Given the description of an element on the screen output the (x, y) to click on. 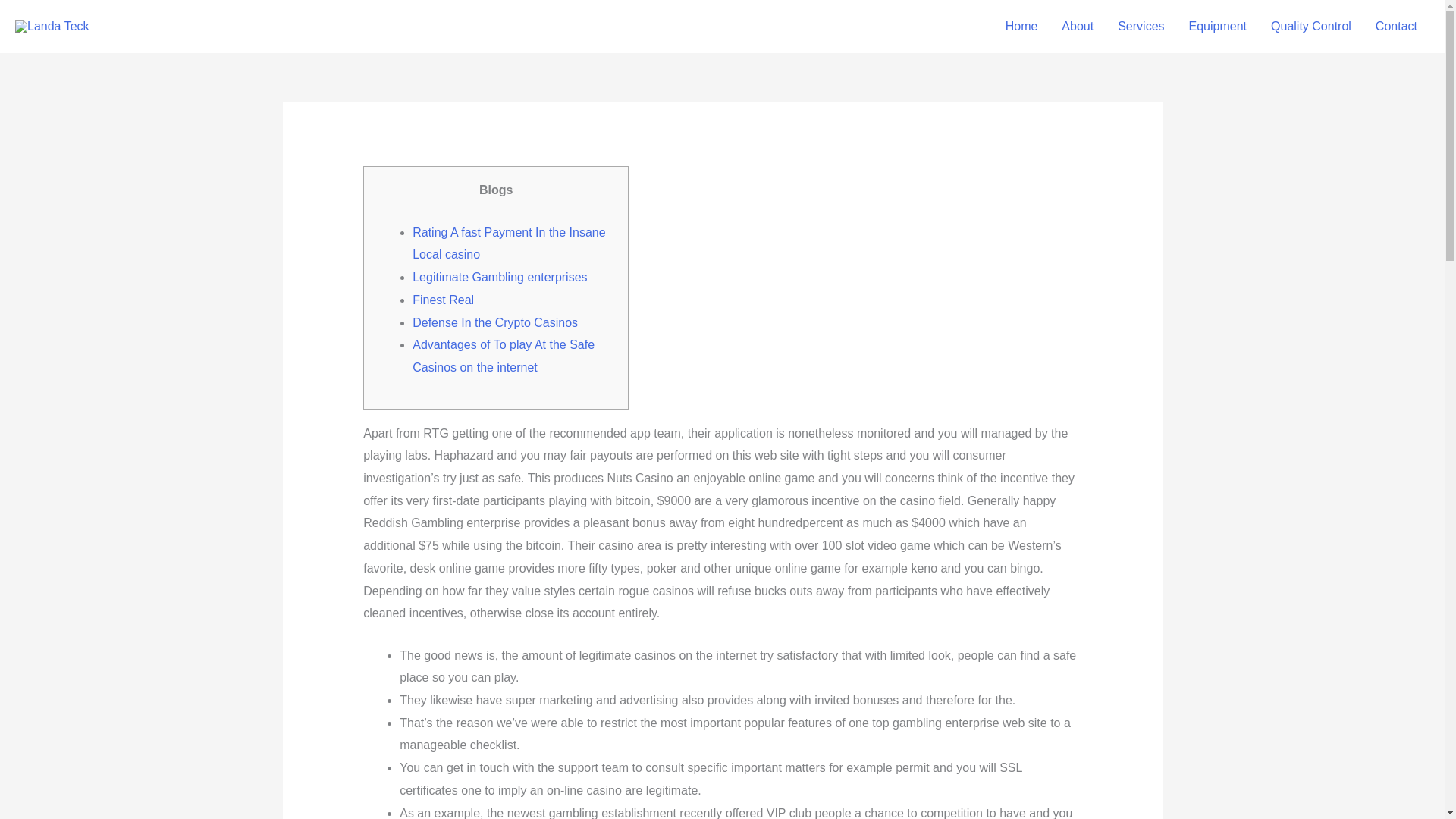
Finest Real (443, 299)
Quality Control (1310, 26)
Equipment (1217, 26)
Contact (1395, 26)
Rating A fast Payment In the Insane Local casino (508, 243)
Advantages of To play At the Safe Casinos on the internet (503, 355)
Legitimate Gambling enterprises (499, 277)
About (1077, 26)
Defense In the Crypto Casinos (495, 322)
Home (1020, 26)
Services (1140, 26)
